Given the description of an element on the screen output the (x, y) to click on. 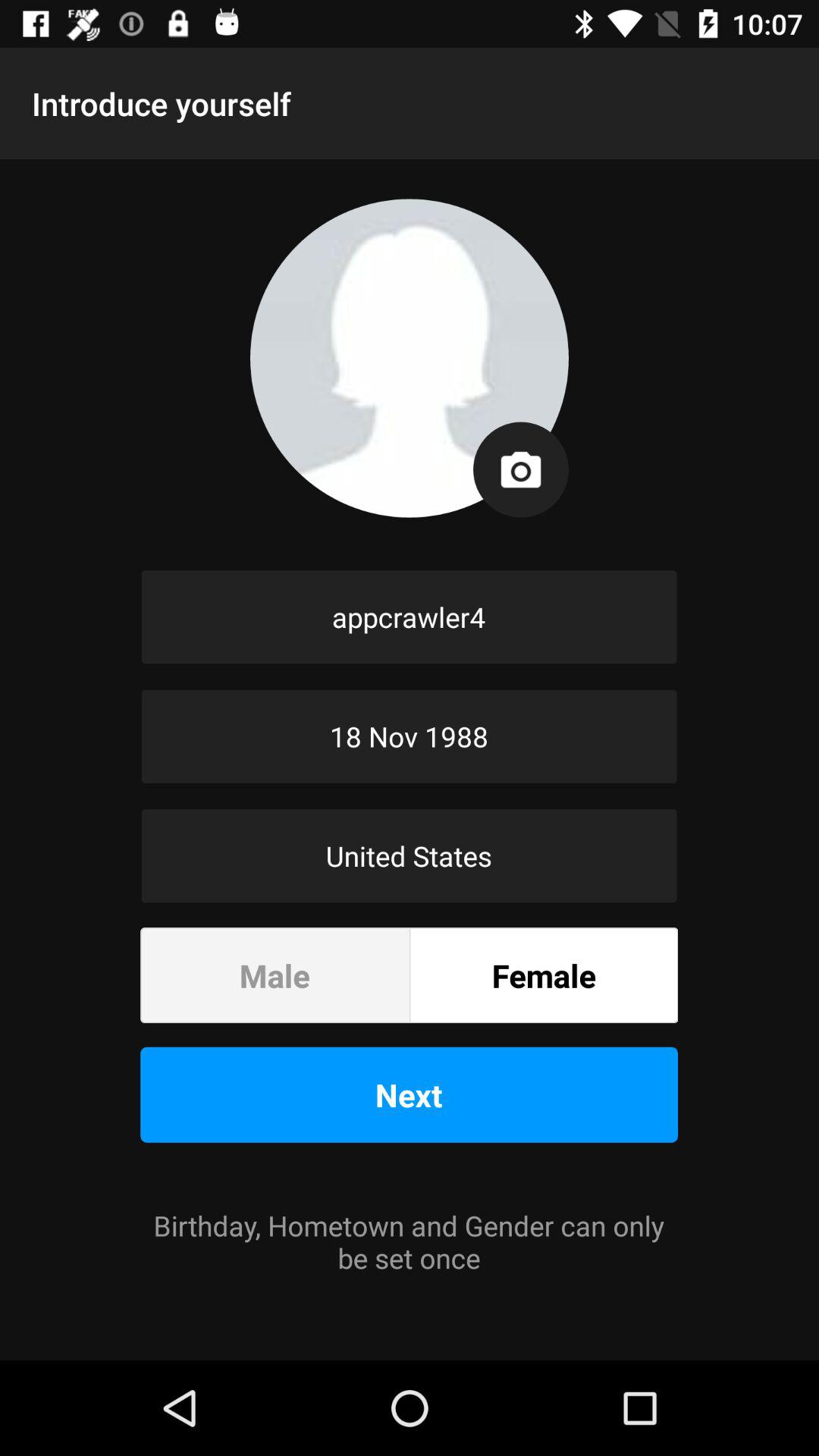
press the icon below appcrawler4 item (408, 736)
